Given the description of an element on the screen output the (x, y) to click on. 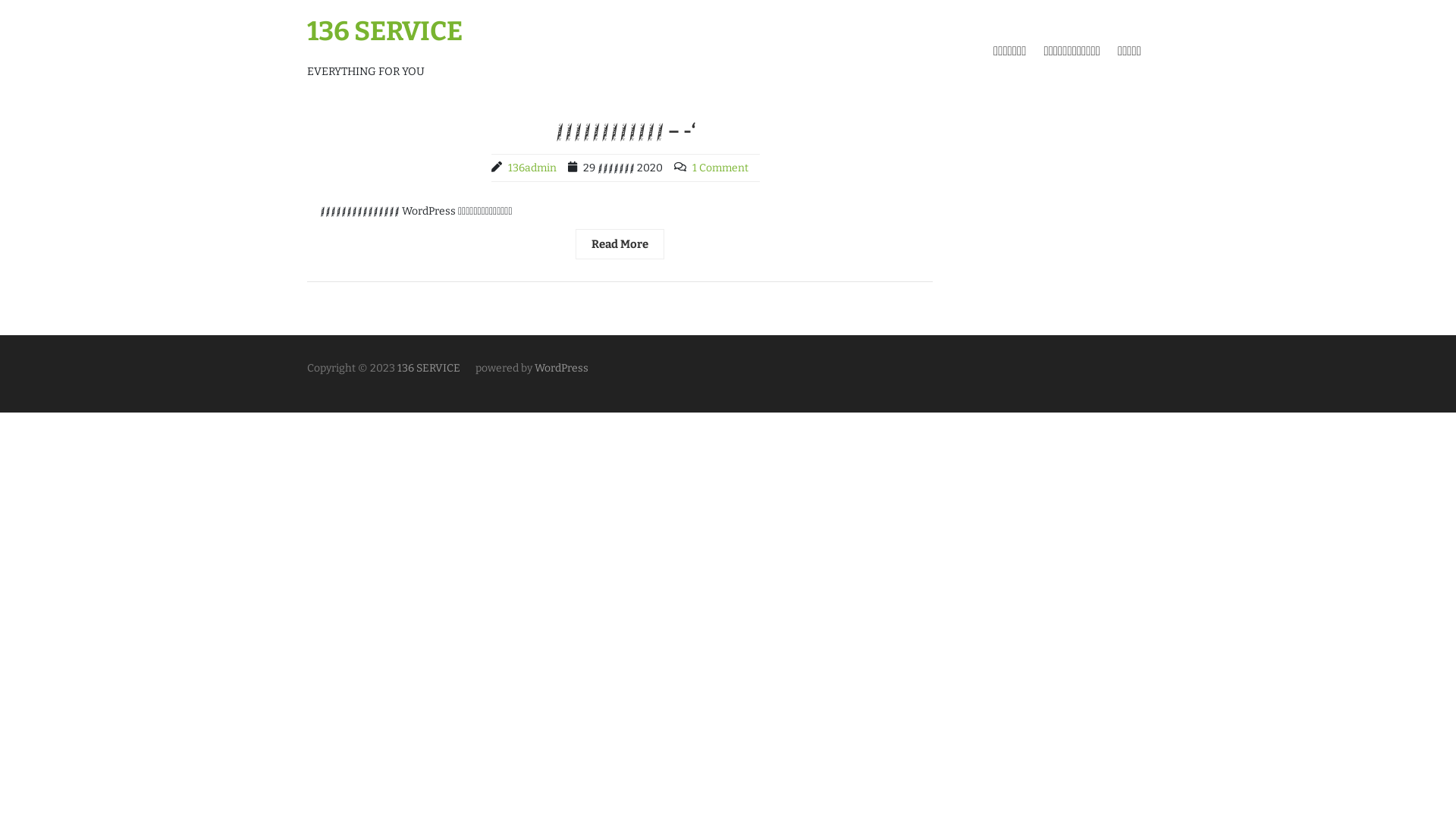
1 Comment Element type: text (720, 167)
Read More Element type: text (619, 244)
136 SERVICE Element type: text (427, 367)
136admin Element type: text (532, 167)
WordPress Element type: text (561, 367)
136 SERVICE Element type: text (384, 31)
